Given the description of an element on the screen output the (x, y) to click on. 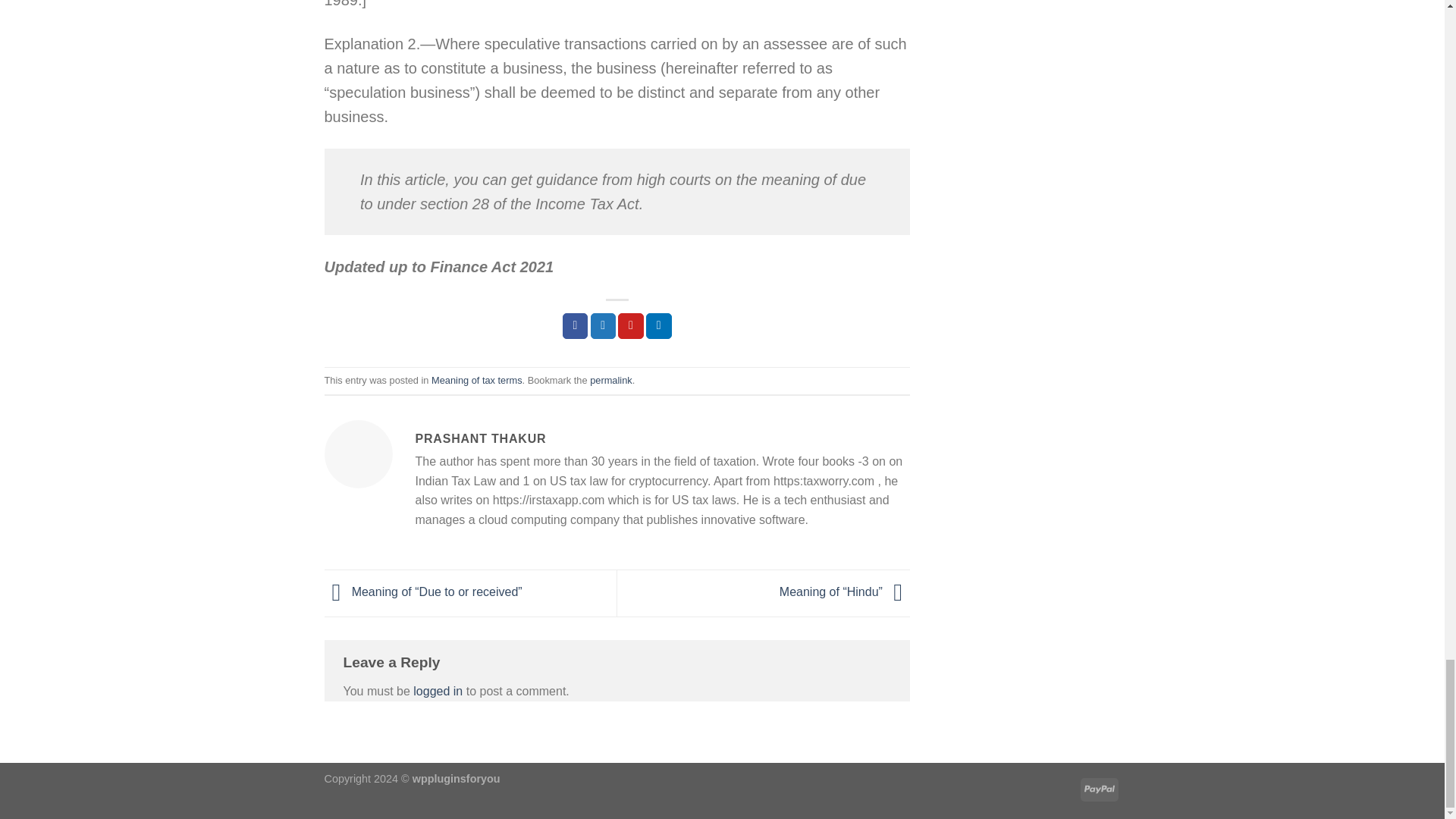
logged in (438, 690)
Share on Twitter (603, 325)
permalink (610, 379)
Pin on Pinterest (630, 325)
Meaning of tax terms (476, 379)
Share on Facebook (575, 325)
Share on LinkedIn (658, 325)
